Given the description of an element on the screen output the (x, y) to click on. 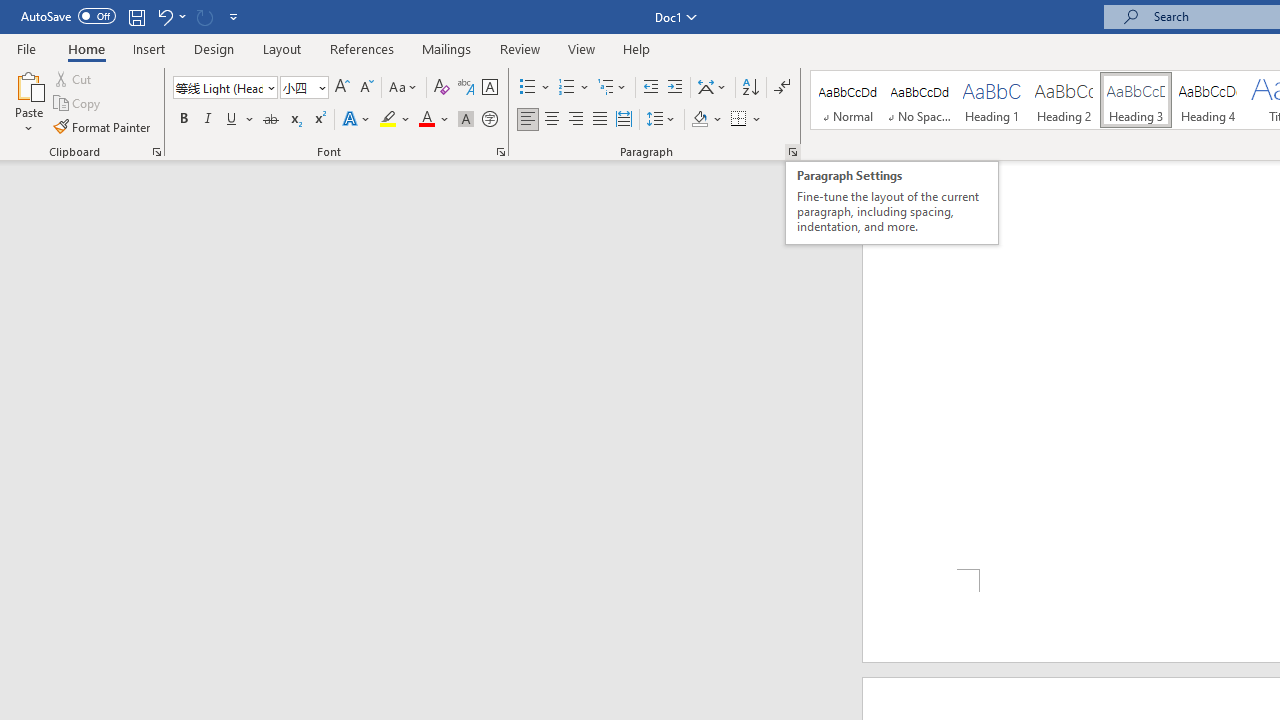
Heading 4 (1208, 100)
Align Left (527, 119)
Undo Apply Quick Style (170, 15)
Show/Hide Editing Marks (781, 87)
Multilevel List (613, 87)
Align Right (575, 119)
